Given the description of an element on the screen output the (x, y) to click on. 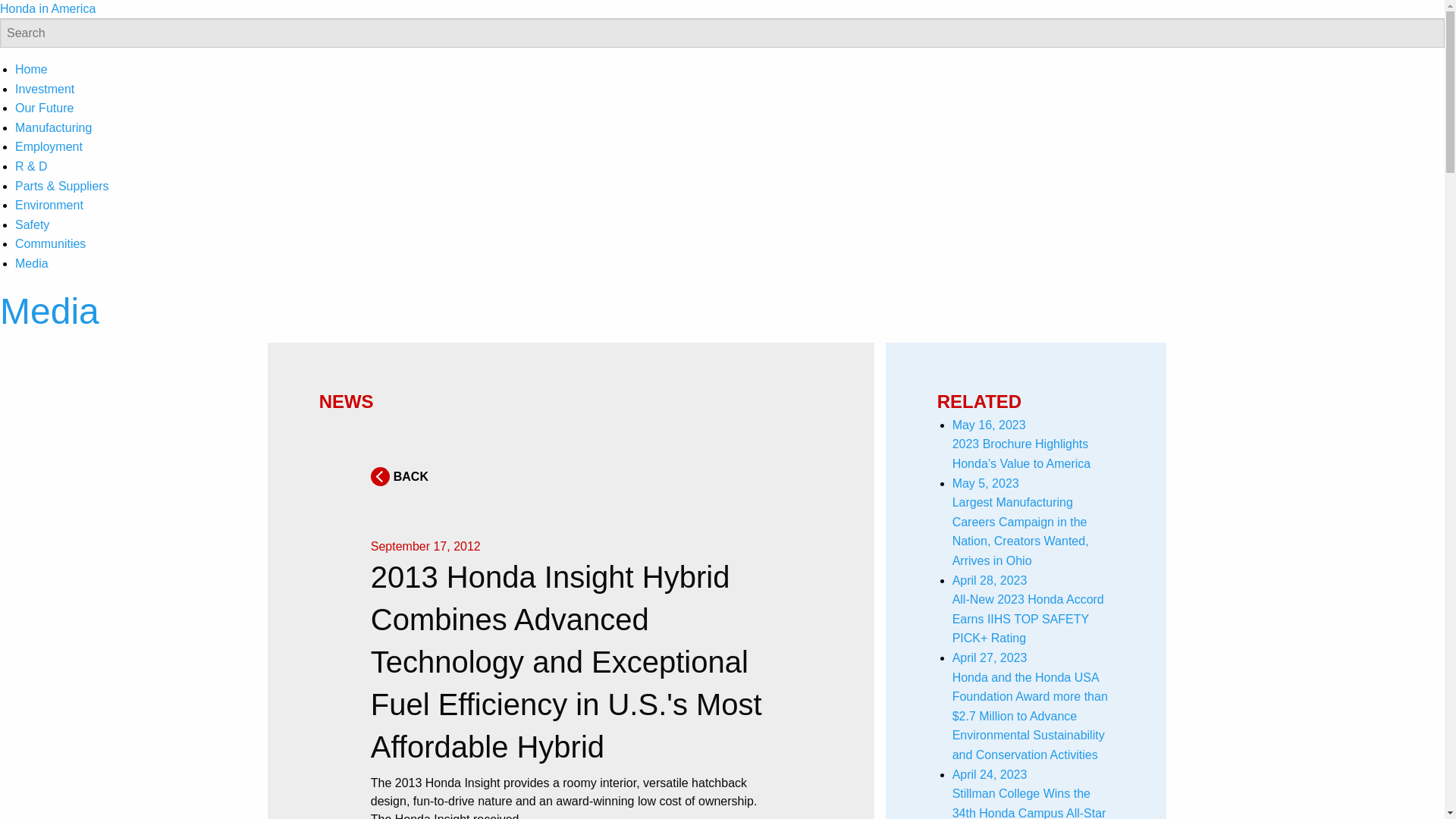
Communities (49, 243)
Environment (48, 205)
Honda in America (48, 8)
Investment (44, 88)
BACK (399, 476)
Home (31, 69)
Manufacturing (52, 127)
Safety (31, 224)
Media (31, 263)
Our Future (44, 107)
Employment (48, 146)
